Given the description of an element on the screen output the (x, y) to click on. 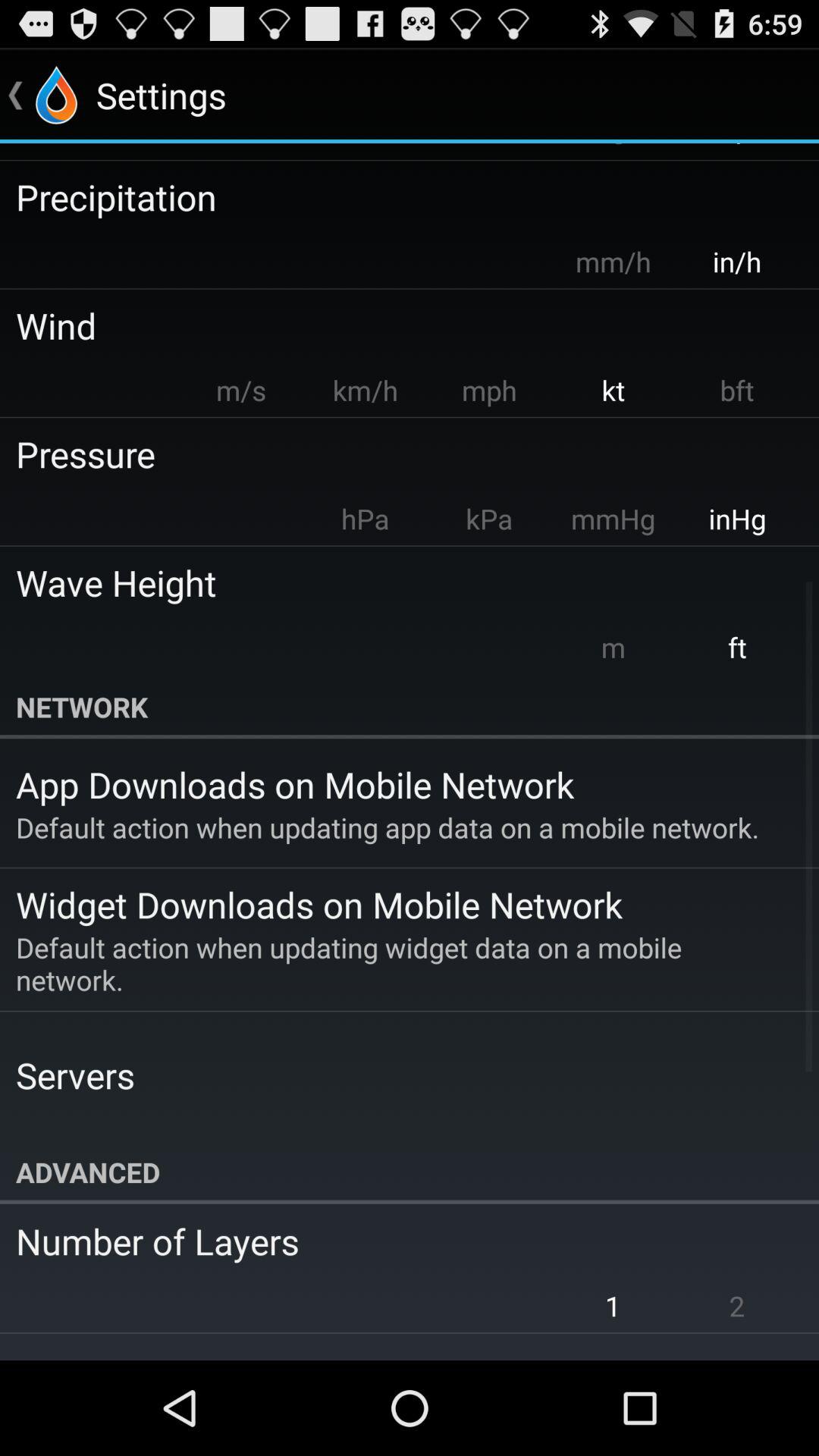
click the app below the number of layers app (613, 1305)
